Given the description of an element on the screen output the (x, y) to click on. 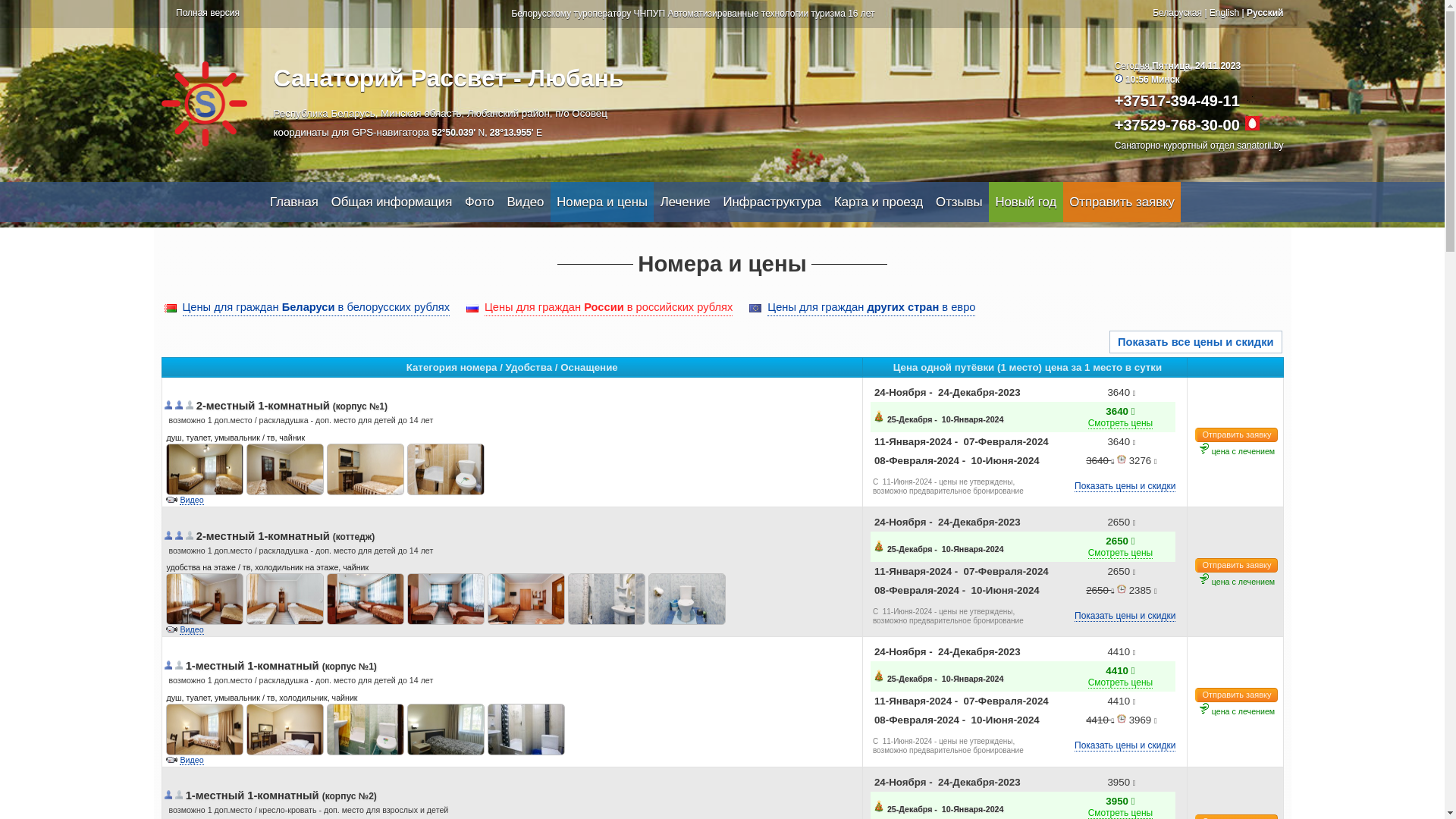
+37517-394-49-11 Element type: text (1176, 100)
English Element type: text (1224, 12)
+37529-768-30-00 Element type: text (1176, 124)
